Given the description of an element on the screen output the (x, y) to click on. 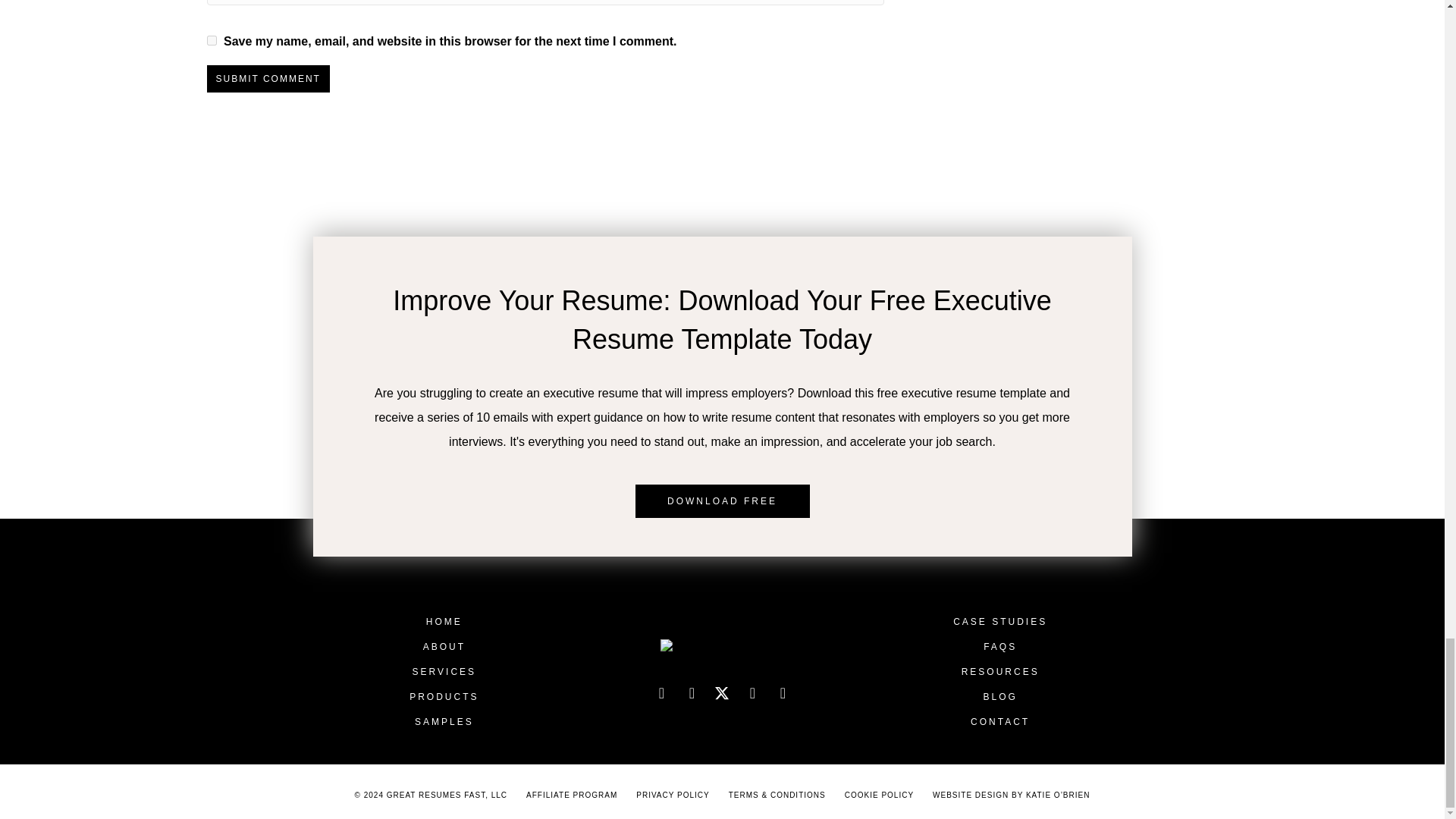
yes (210, 40)
Submit Comment (267, 78)
